Given the description of an element on the screen output the (x, y) to click on. 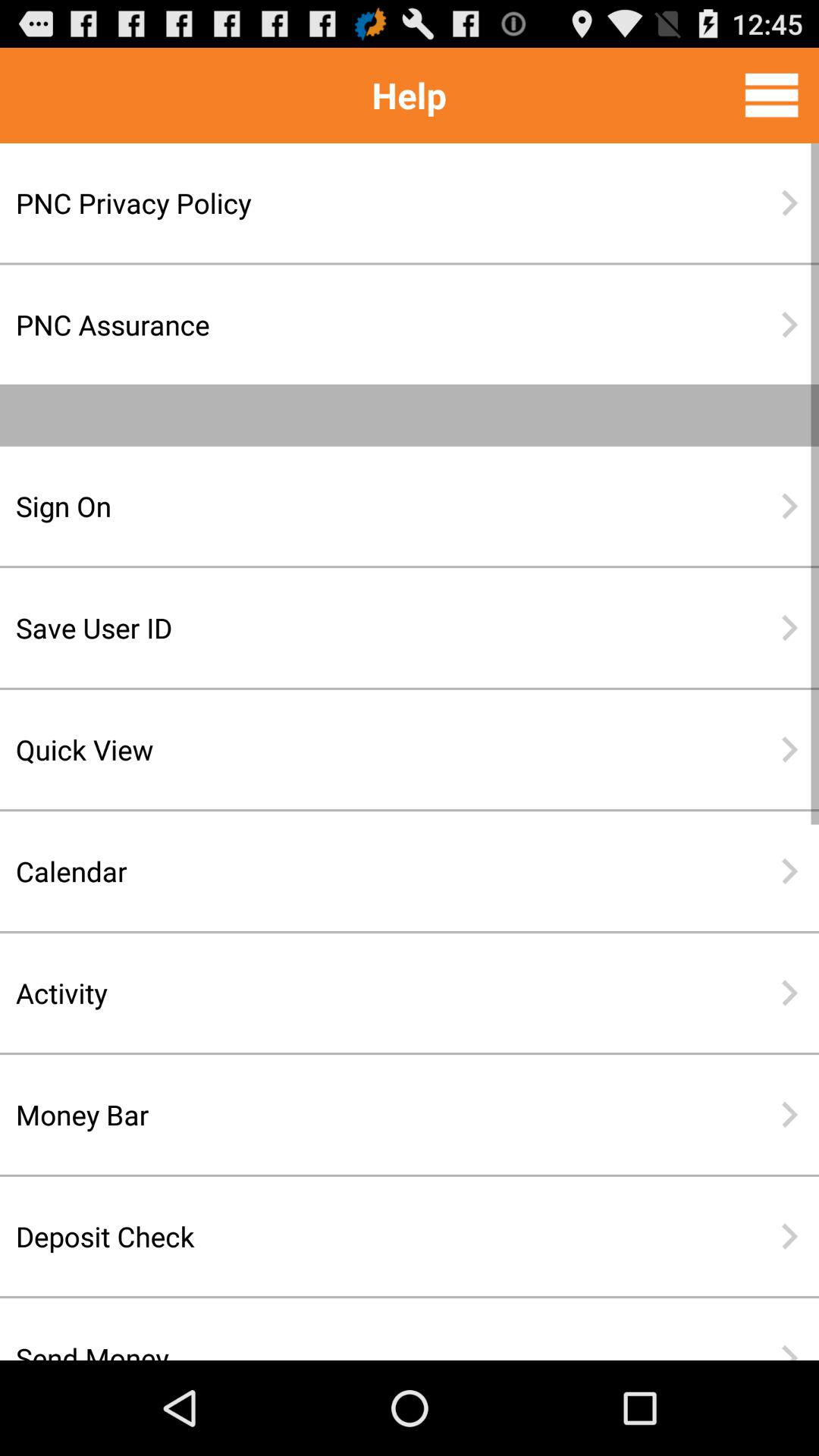
open pnc assurance icon (359, 324)
